Given the description of an element on the screen output the (x, y) to click on. 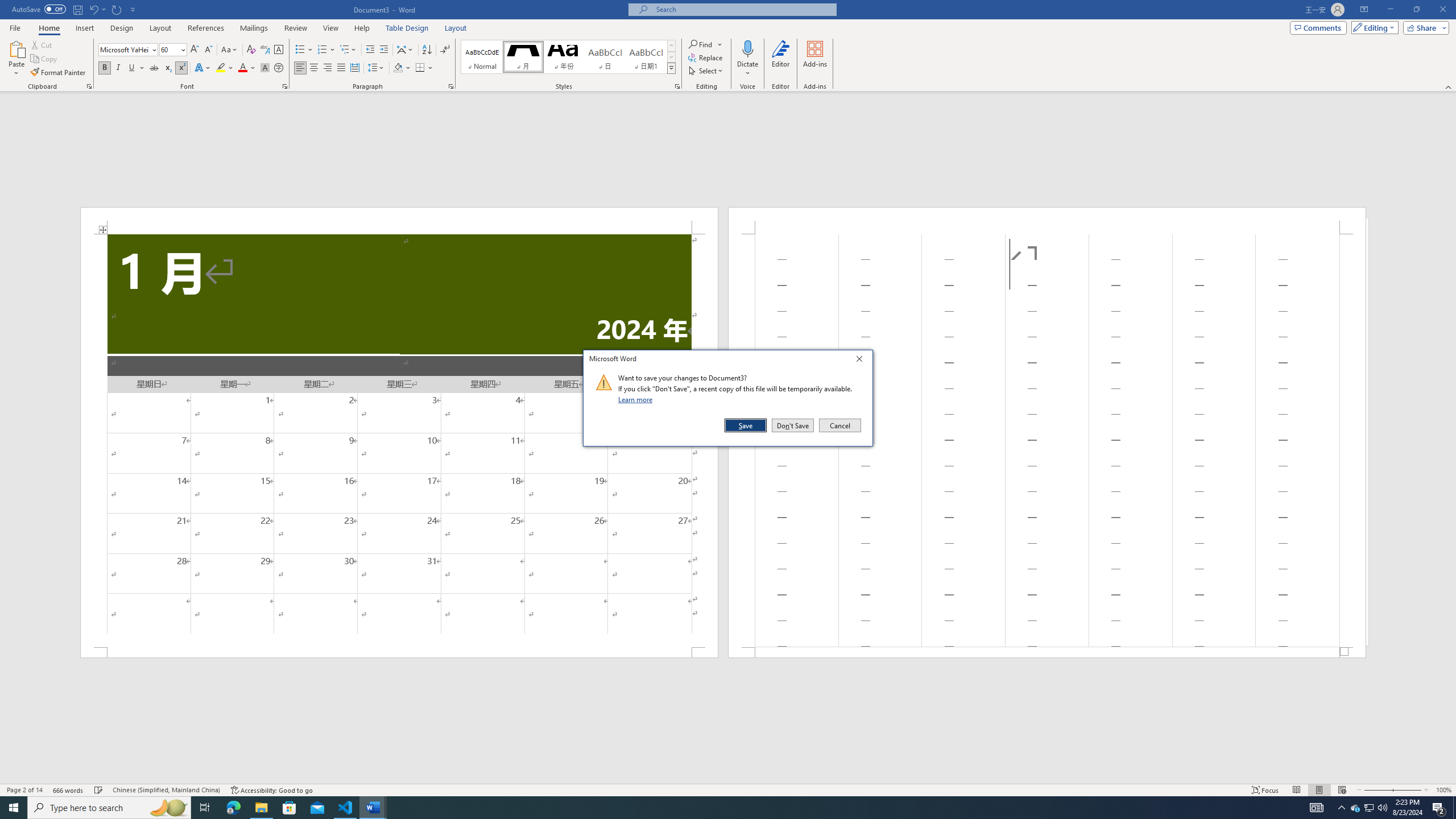
Distributed (354, 67)
Copy (45, 58)
Word - 2 running windows (373, 807)
Office Clipboard... (88, 85)
Accessibility Checker Accessibility: Good to go (271, 790)
Format Painter (58, 72)
